Given the description of an element on the screen output the (x, y) to click on. 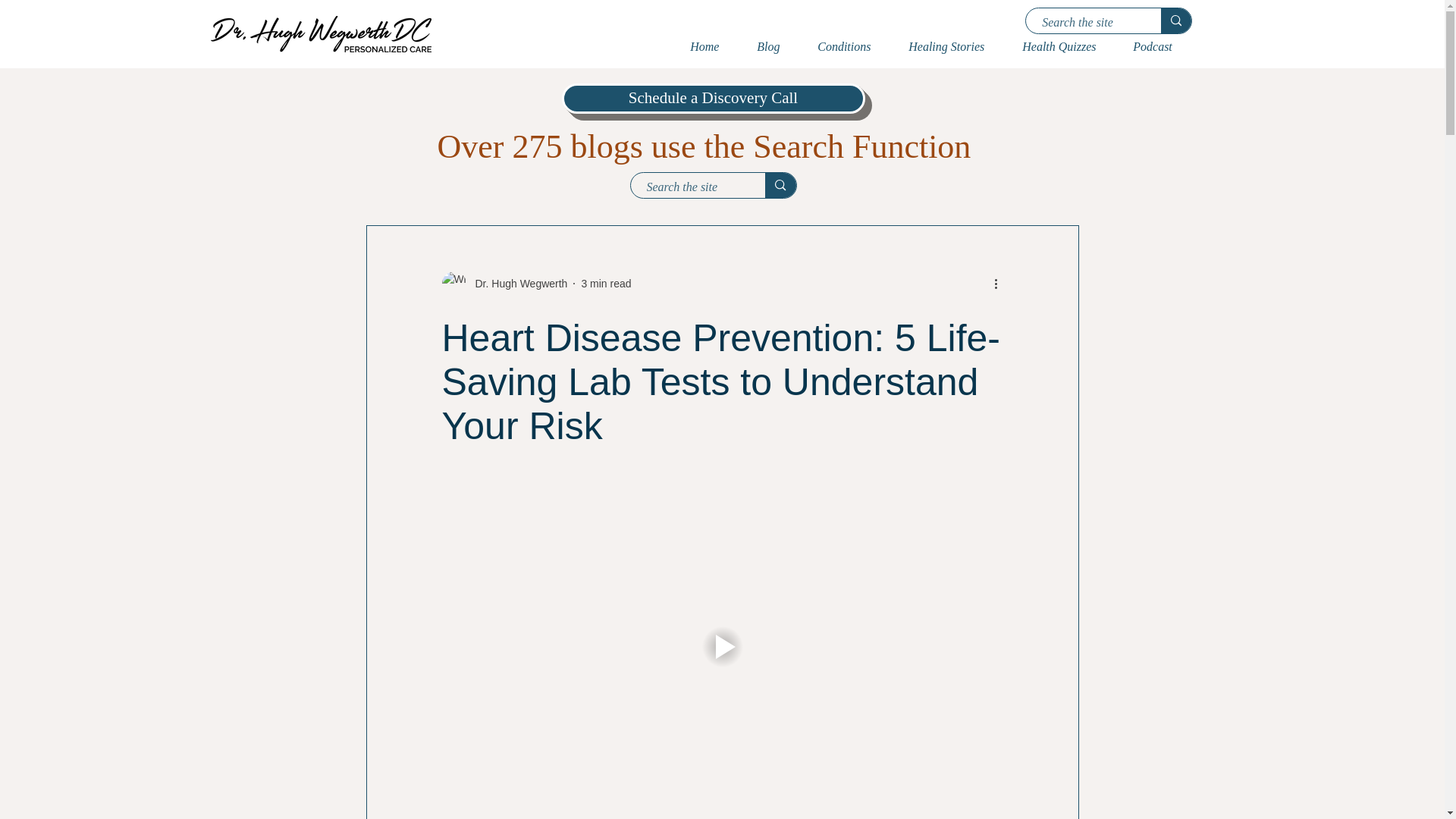
Healing Stories (953, 47)
Home (711, 47)
Dr. Hugh Wegwerth (516, 283)
Dr. Hugh Wegwerth (504, 283)
Blog (775, 47)
3 min read (605, 283)
Schedule a Discovery Call (712, 98)
Podcast (1159, 47)
Health Quizzes (1065, 47)
